Given the description of an element on the screen output the (x, y) to click on. 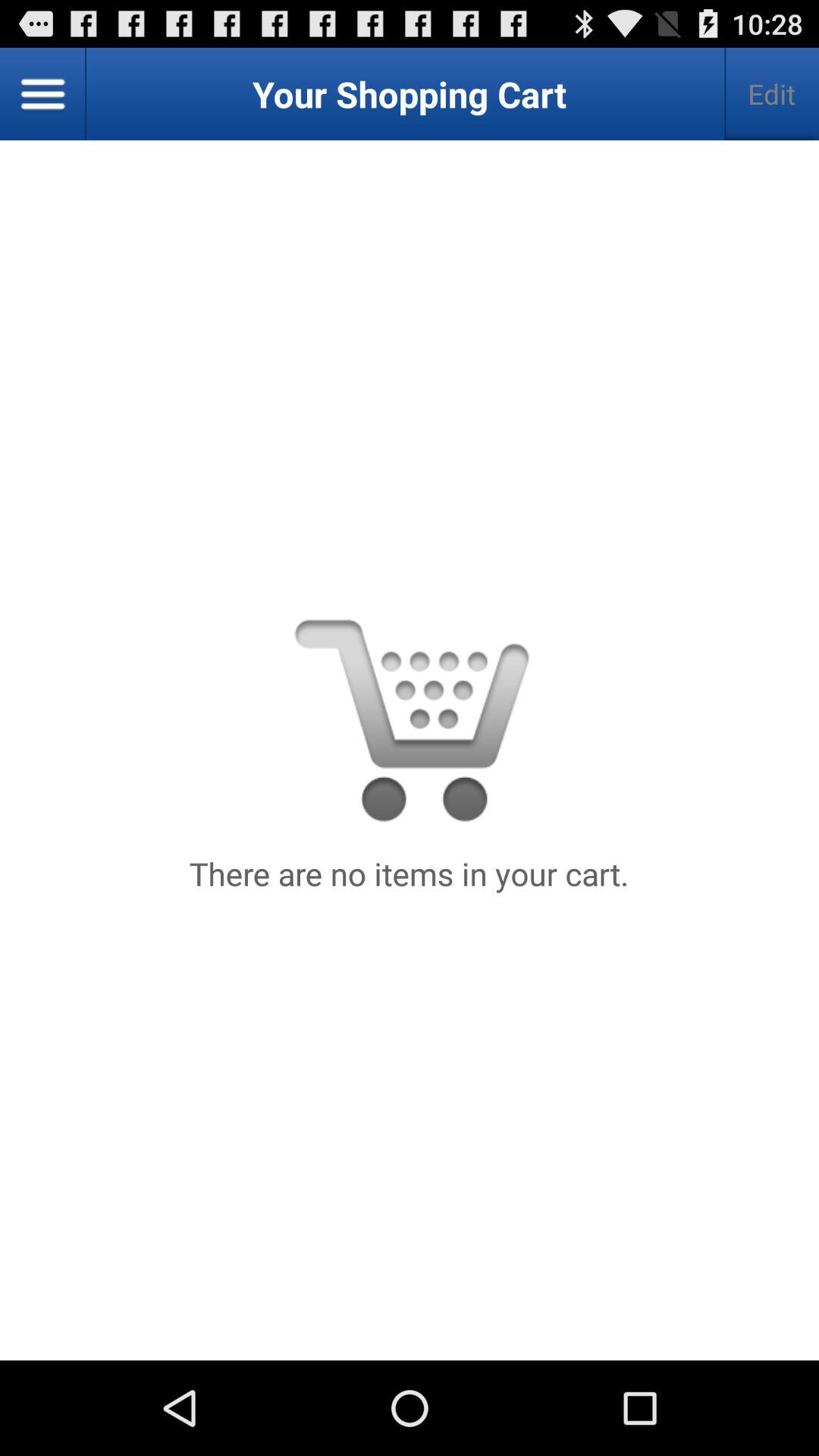
press the edit at the top right corner (771, 93)
